Given the description of an element on the screen output the (x, y) to click on. 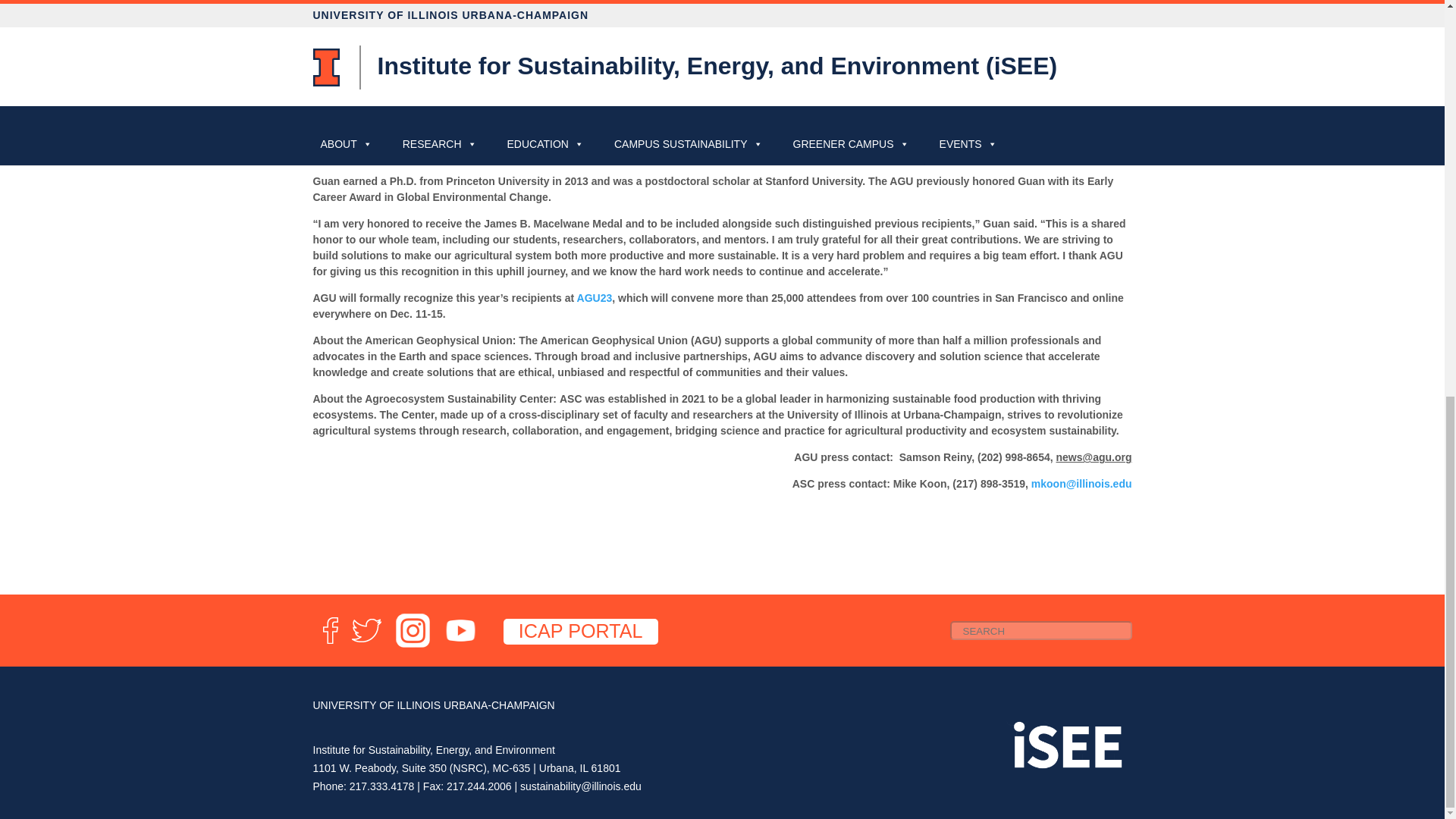
YouTube (460, 644)
Instagram (412, 644)
Twitter (366, 644)
Search for: (1040, 629)
Facebook (329, 644)
ICAP PORTAL (580, 631)
